Given the description of an element on the screen output the (x, y) to click on. 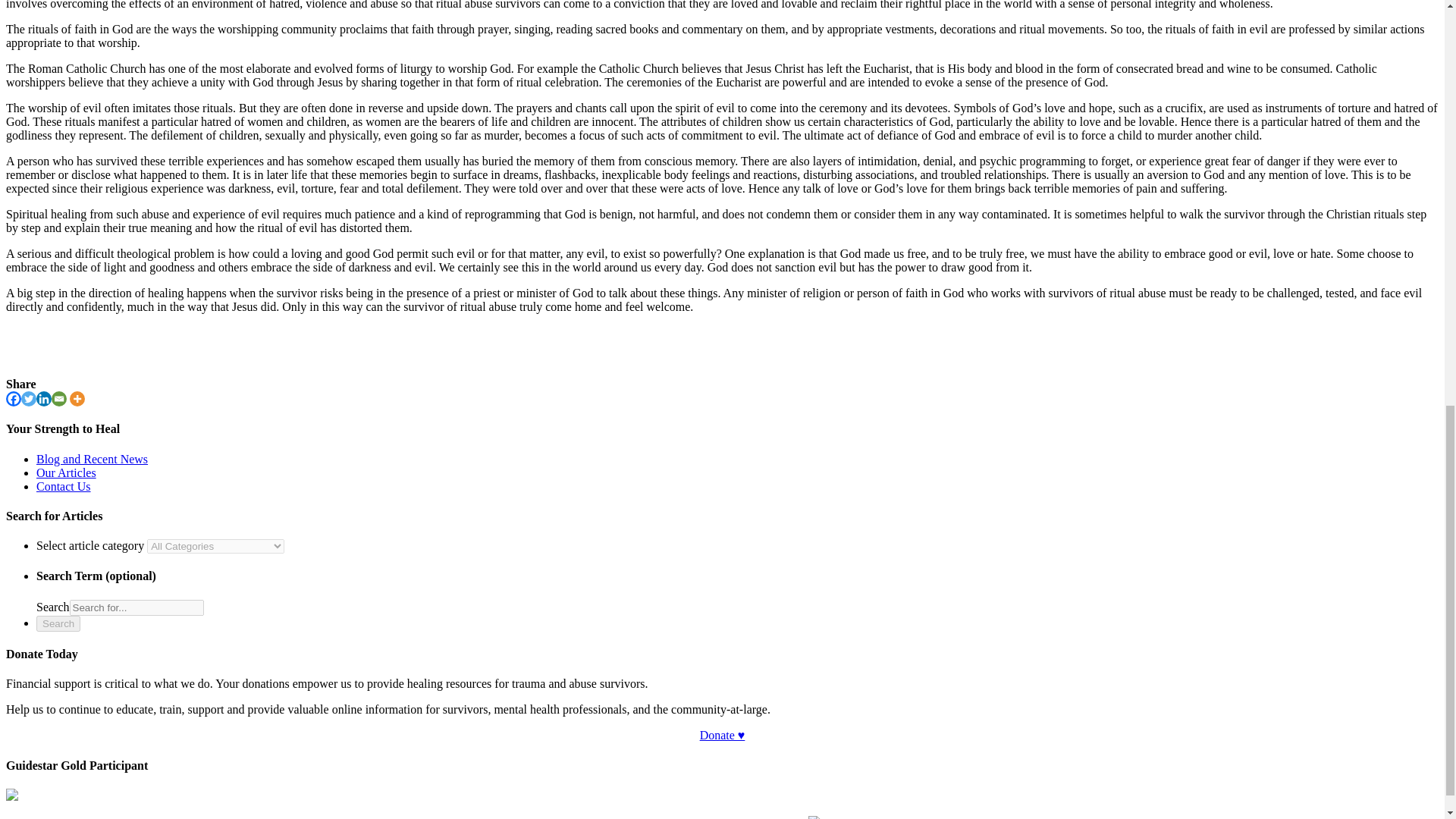
Linkedin (43, 398)
Twitter (28, 398)
Email (58, 398)
Search (58, 623)
Select article category (215, 545)
More (76, 398)
Facebook (13, 398)
Search (136, 607)
